Given the description of an element on the screen output the (x, y) to click on. 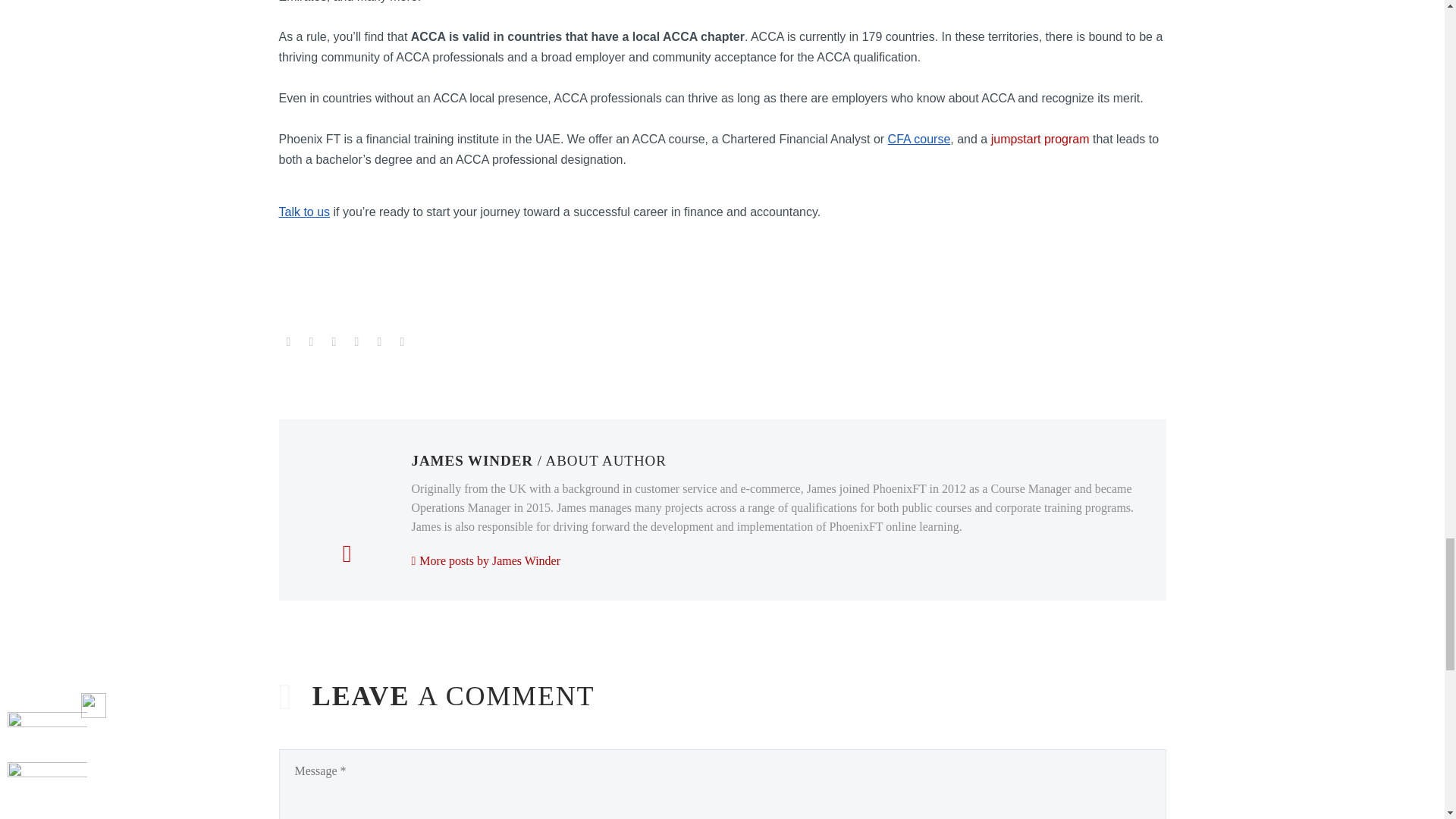
Pinterest (333, 341)
Facebook (288, 341)
Twitter (310, 341)
